Given the description of an element on the screen output the (x, y) to click on. 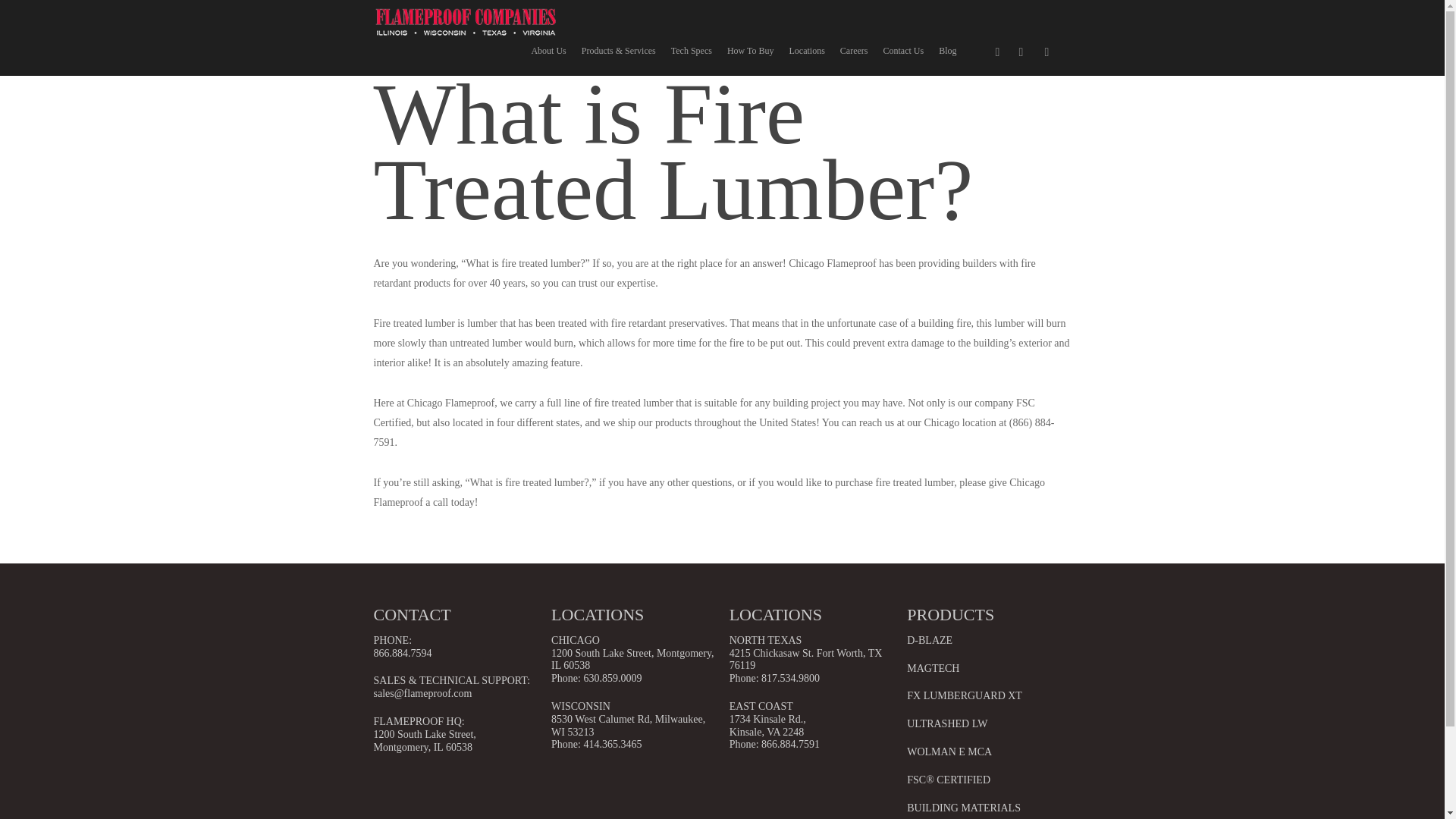
WISCONSIN (580, 706)
How To Buy (750, 54)
414.365.3465 (612, 744)
About Us (548, 54)
FX LUMBERGUARD XT (964, 695)
Contact Us (902, 54)
ULTRASHED LW (947, 723)
630.859.0009 (612, 677)
EAST COAST (761, 706)
NORTH TEXAS (765, 640)
